Given the description of an element on the screen output the (x, y) to click on. 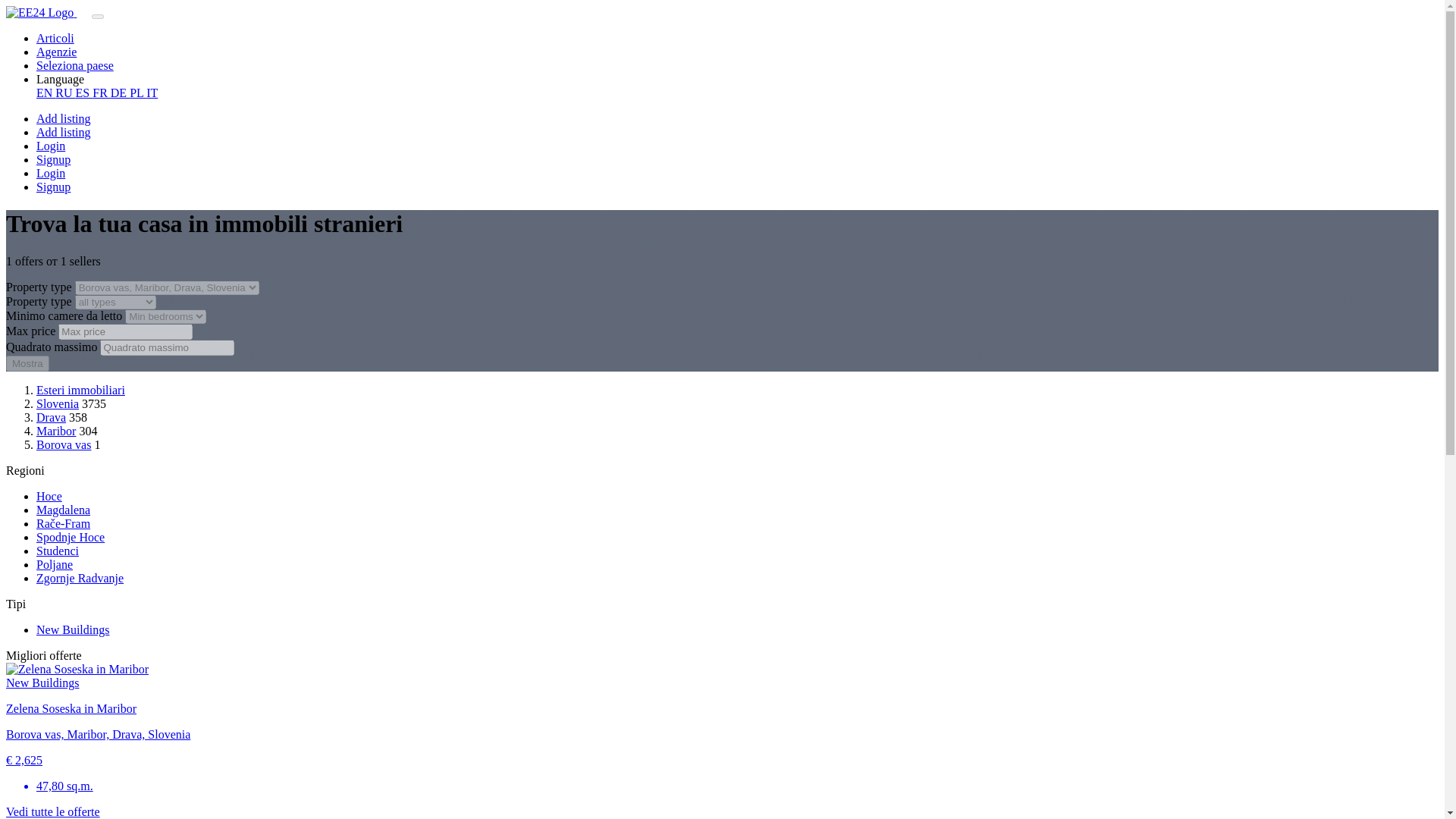
Seleziona paese (74, 65)
Maribor (55, 431)
EN (45, 92)
Agenzie (56, 51)
New Buildings (72, 629)
Borova vas (63, 444)
Minimo camere da letto (165, 316)
Property type (115, 301)
Studenci (57, 550)
Esteri immobiliari (80, 390)
Signup (52, 186)
Posizione (167, 287)
RU (65, 92)
Signup (52, 159)
Add listing (63, 132)
